Given the description of an element on the screen output the (x, y) to click on. 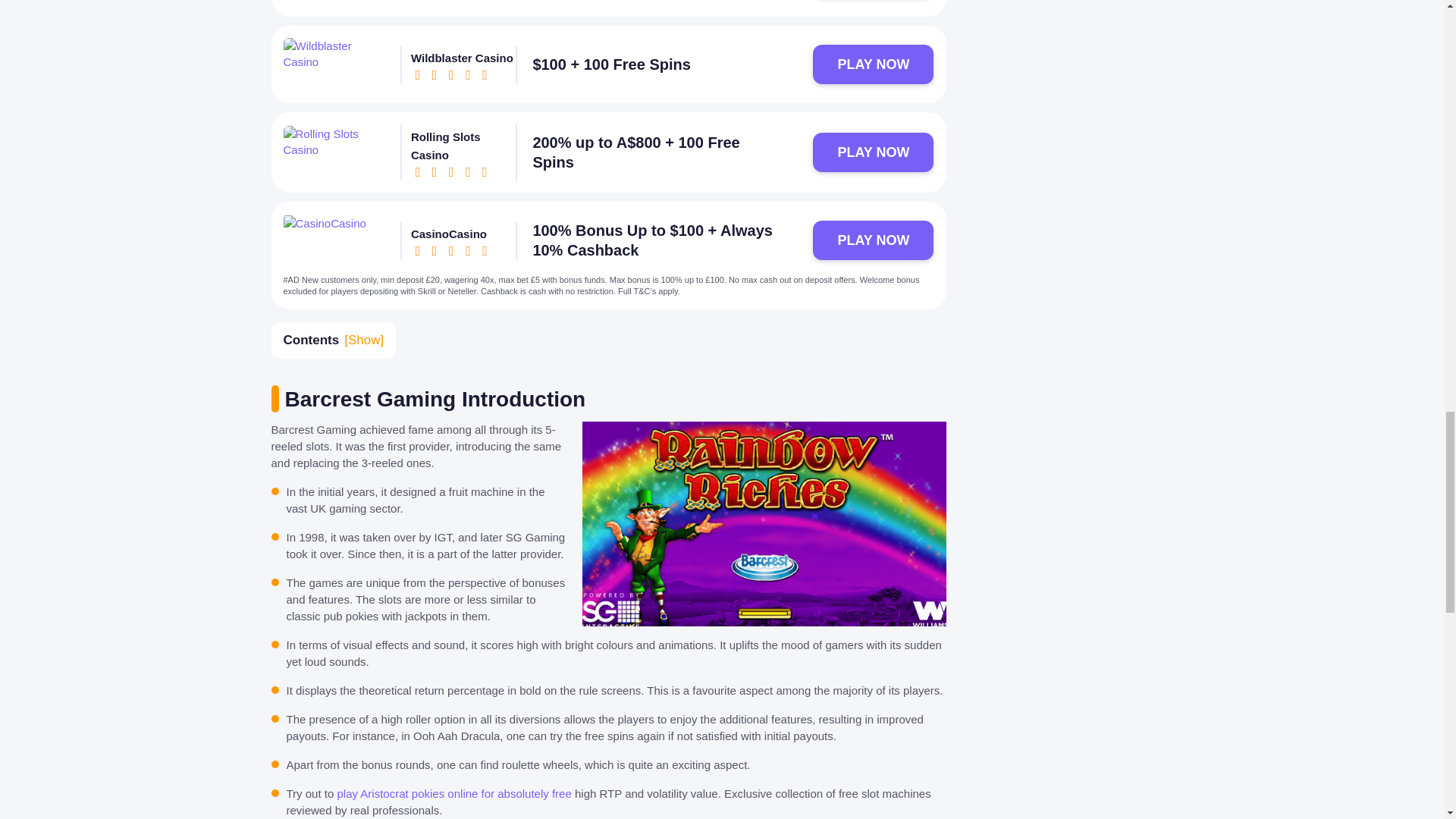
Barcrest Rainbow Riches Online Slot (756, 527)
